Given the description of an element on the screen output the (x, y) to click on. 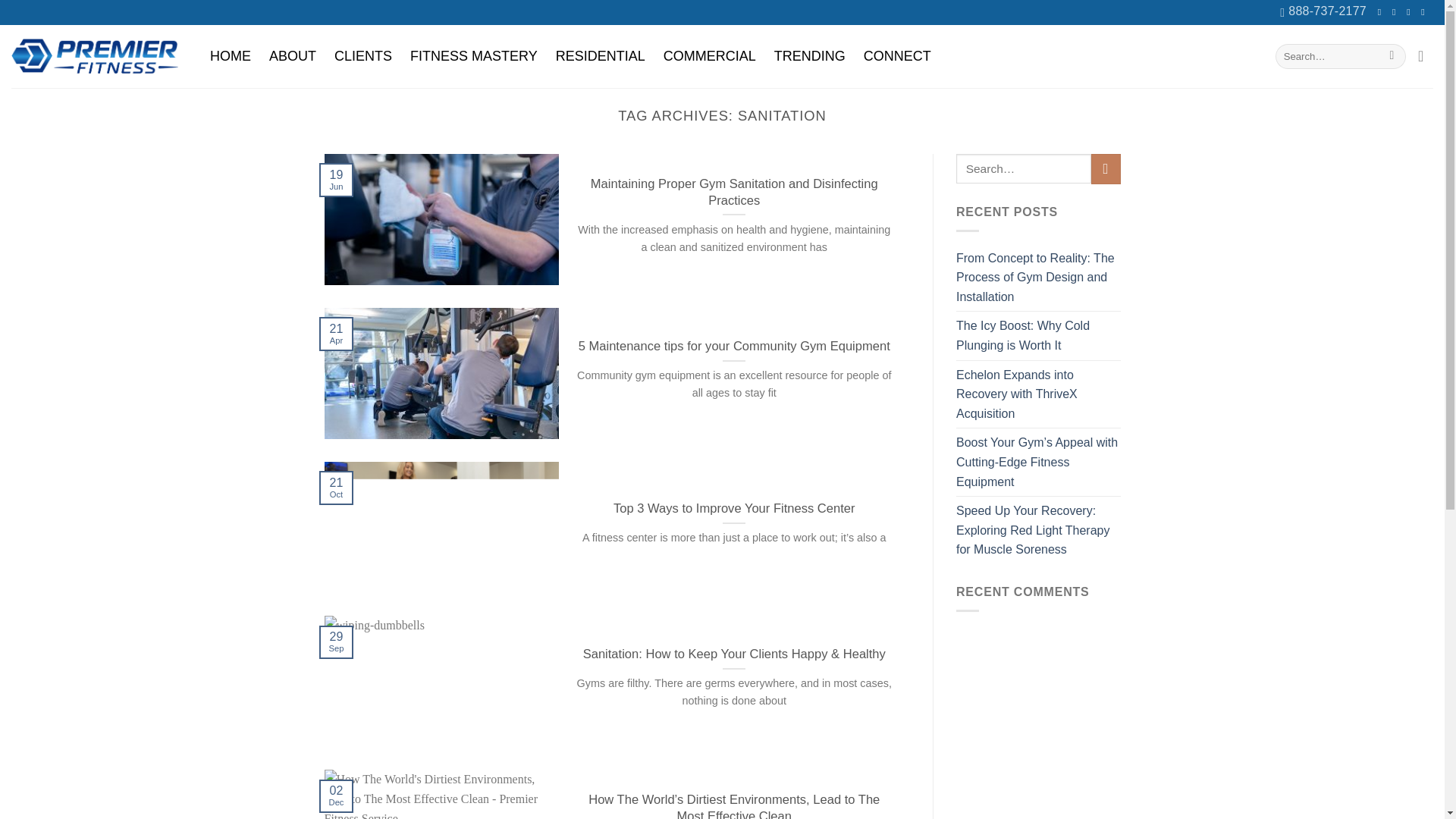
888-737-2177 (1323, 12)
CLIENTS (362, 55)
FITNESS MASTERY (474, 55)
888-737-2177 (1323, 12)
HOME (230, 55)
ABOUT (292, 55)
Premier Fitness - Premier Fitness (94, 55)
